Given the description of an element on the screen output the (x, y) to click on. 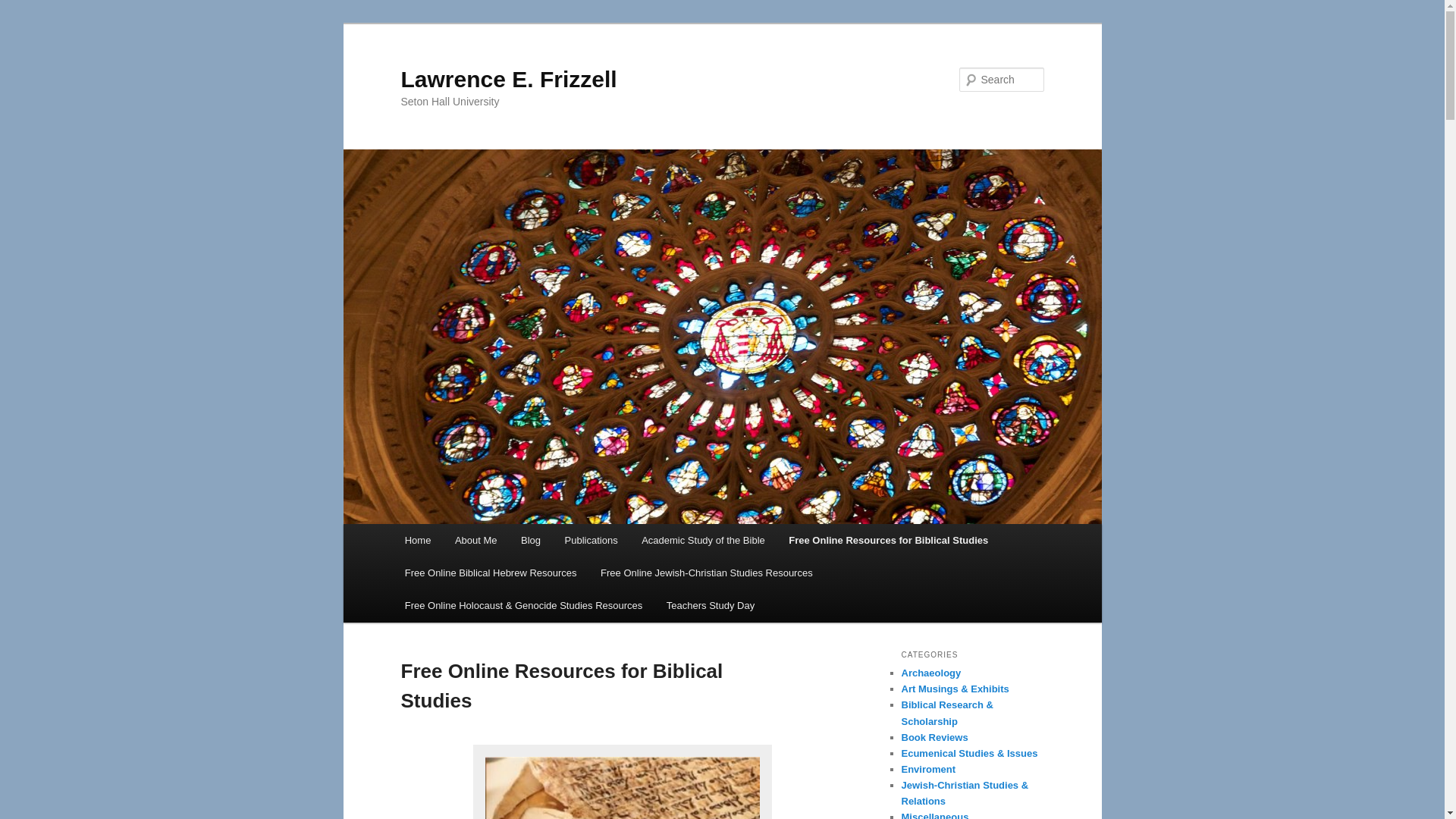
Free Online Resources for Biblical Studies (888, 540)
Free Online Jewish-Christian Studies Resources (706, 572)
Blog (530, 540)
Free Online Biblical Hebrew Resources (490, 572)
Lawrence E. Frizzell (507, 78)
About Me (475, 540)
Search (24, 8)
Publications (591, 540)
Home (417, 540)
